Given the description of an element on the screen output the (x, y) to click on. 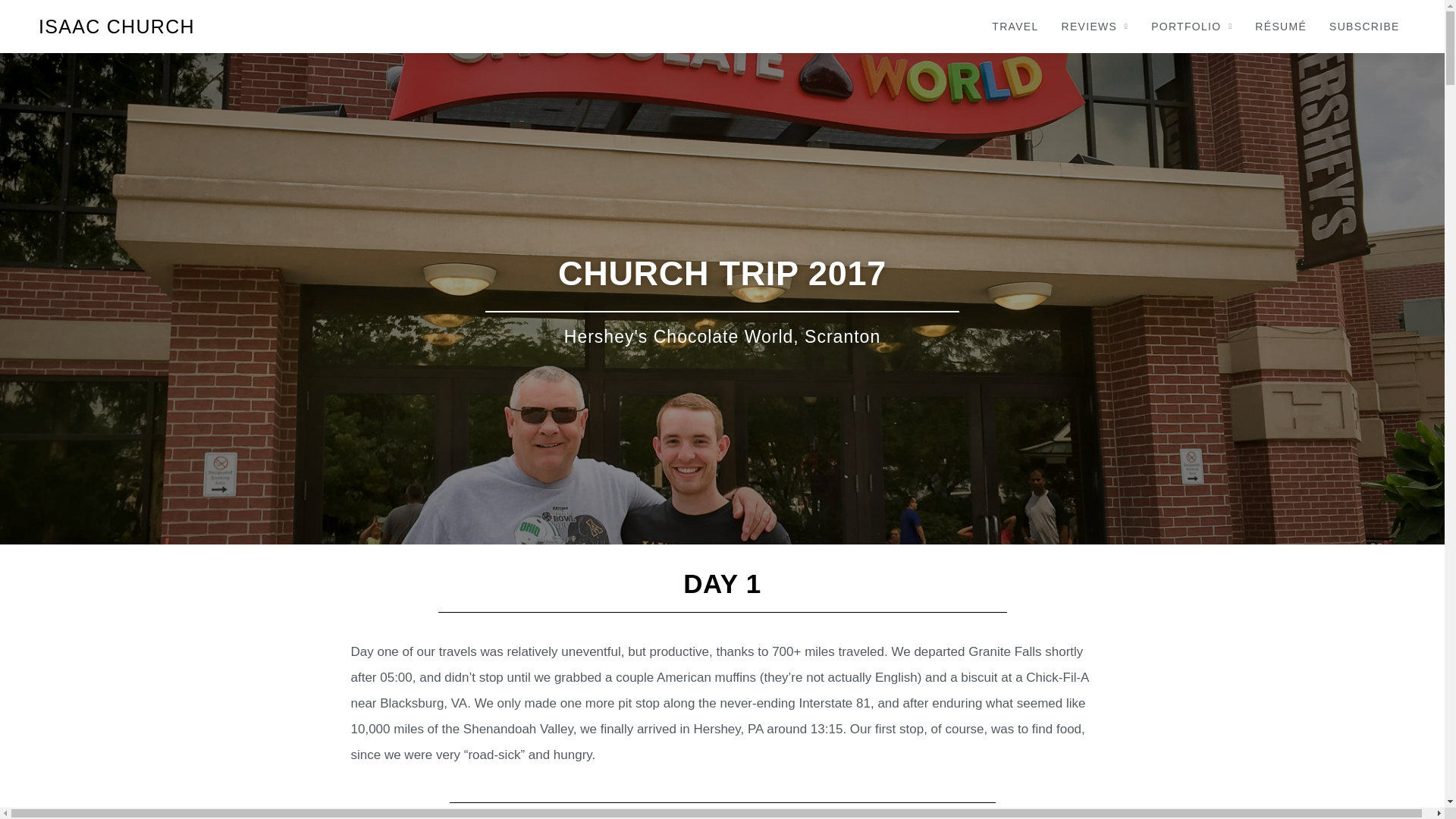
REVIEWS (1094, 26)
TRAVEL (1014, 26)
SUBSCRIBE (1363, 26)
PORTFOLIO (1191, 26)
ISAAC CHURCH (117, 25)
